Given the description of an element on the screen output the (x, y) to click on. 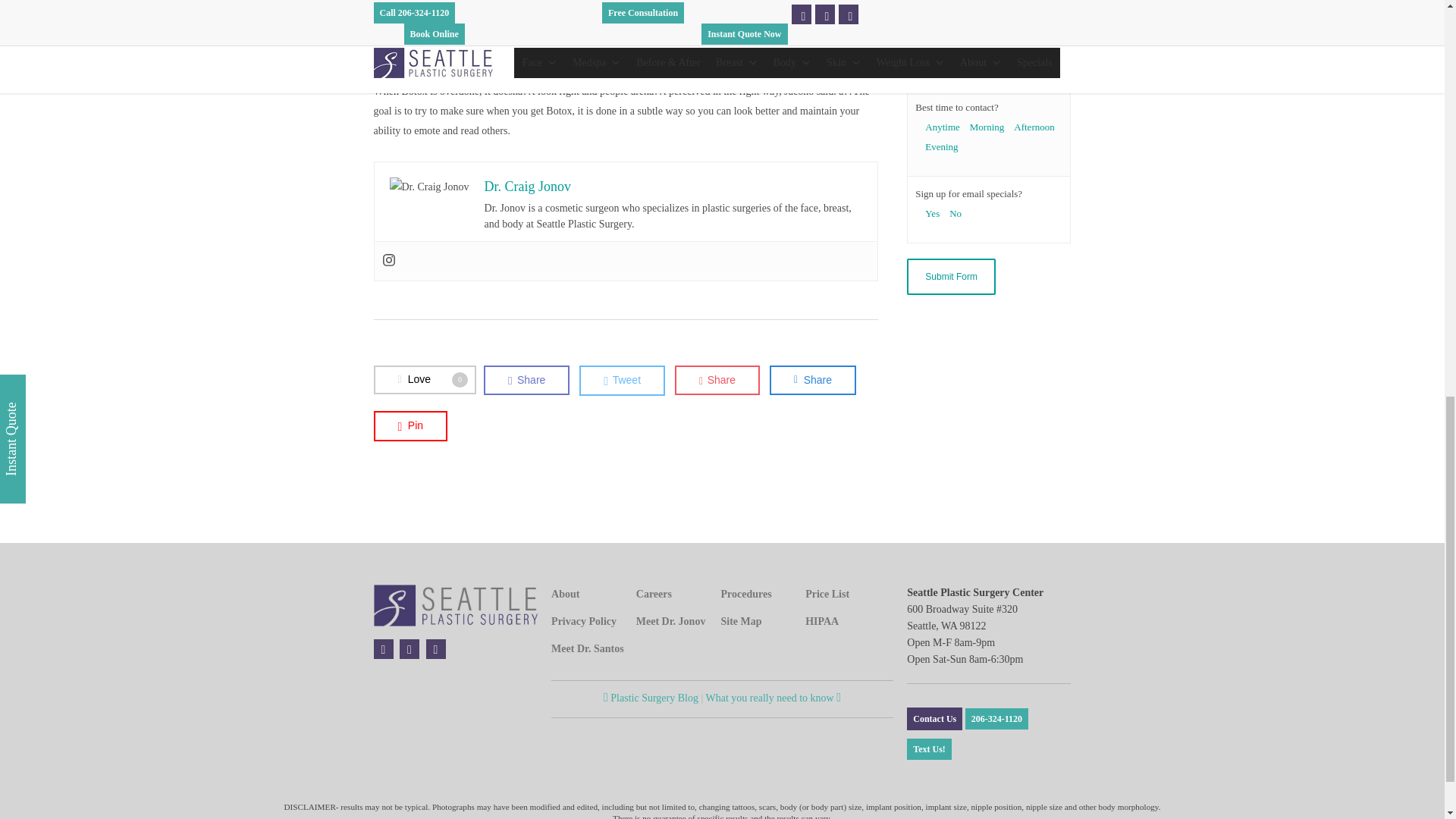
Share this (717, 379)
Share this (813, 379)
Pin this (409, 425)
Love this (424, 379)
Submit Form (951, 276)
Share this (526, 379)
Tweet this (622, 380)
